Given the description of an element on the screen output the (x, y) to click on. 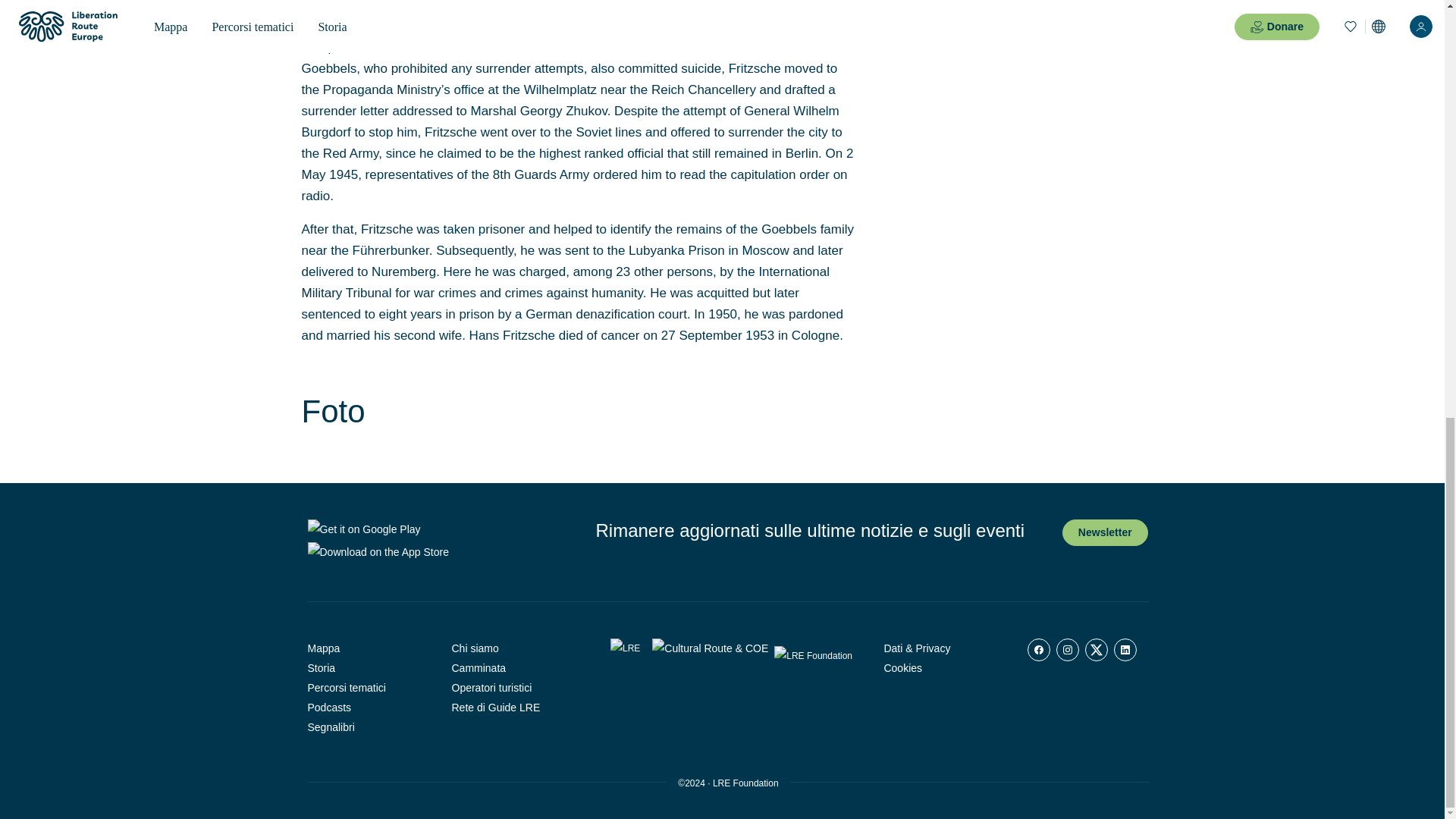
Newsletter (1105, 532)
Camminata (512, 668)
Storia (368, 668)
Percorsi tematici (368, 687)
Cookies (943, 668)
Chi siamo (512, 648)
Segnalibri (368, 727)
Mappa (368, 648)
LRE Foundation (745, 783)
Podcasts (368, 707)
